Given the description of an element on the screen output the (x, y) to click on. 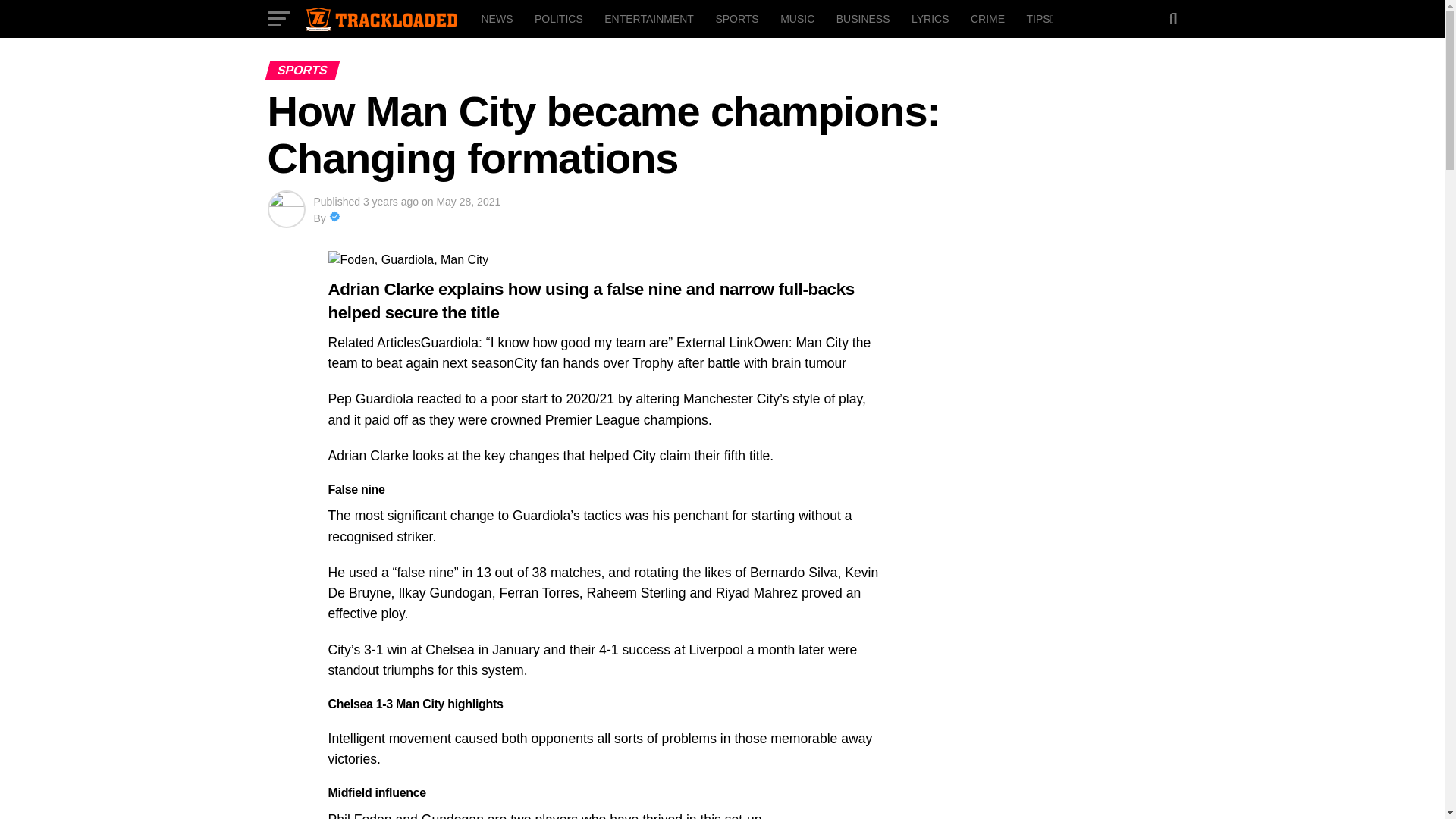
ENTERTAINMENT (649, 18)
NEWS (496, 18)
POLITICS (558, 18)
SPORTS (736, 18)
